Given the description of an element on the screen output the (x, y) to click on. 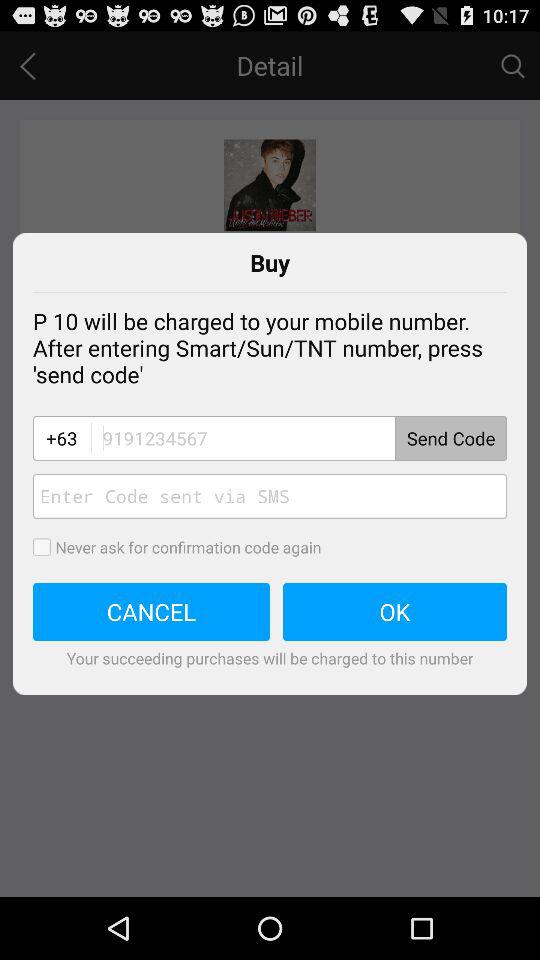
press icon to the right of the cancel icon (395, 611)
